Given the description of an element on the screen output the (x, y) to click on. 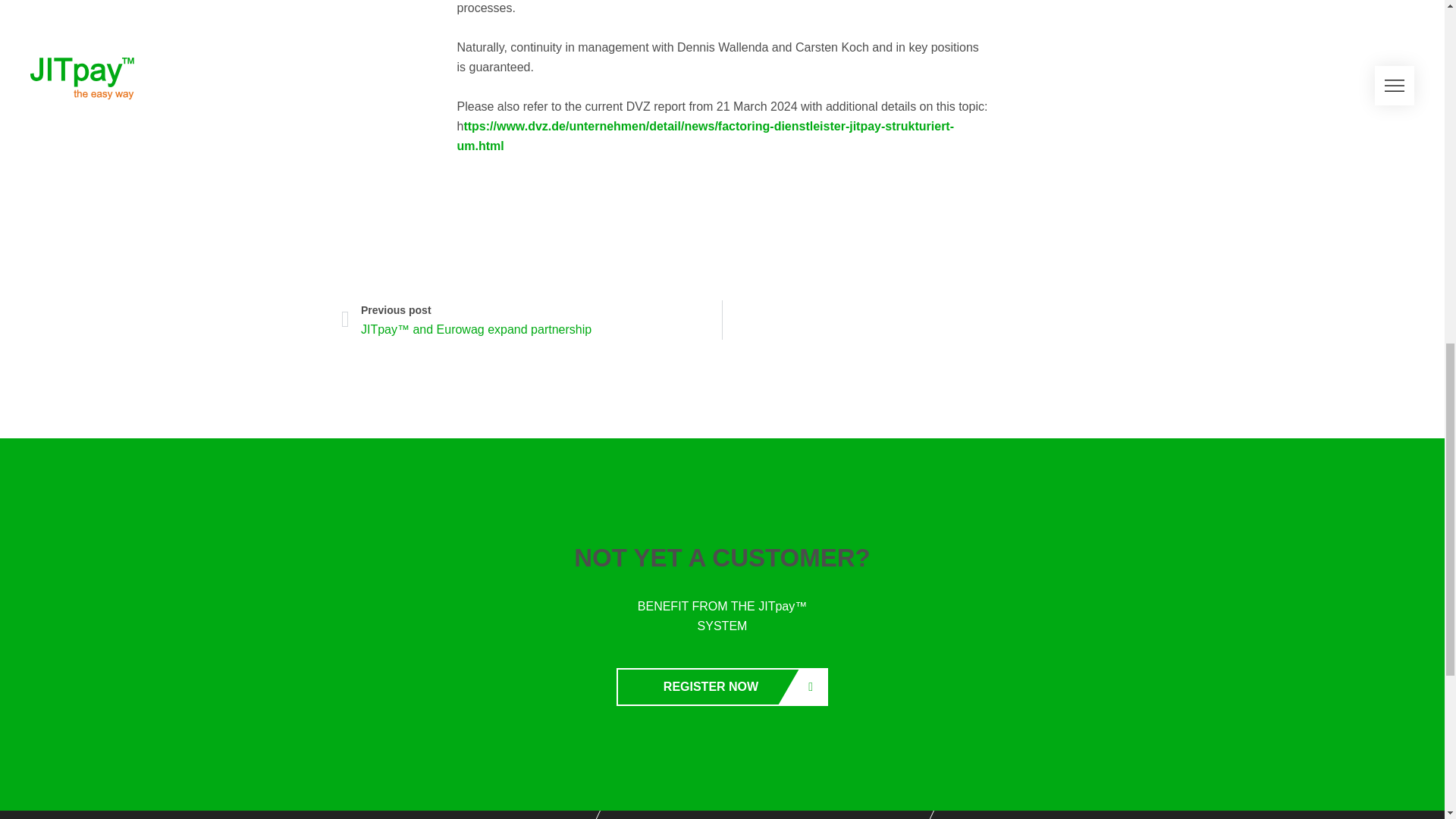
REGISTER NOW (721, 686)
